Given the description of an element on the screen output the (x, y) to click on. 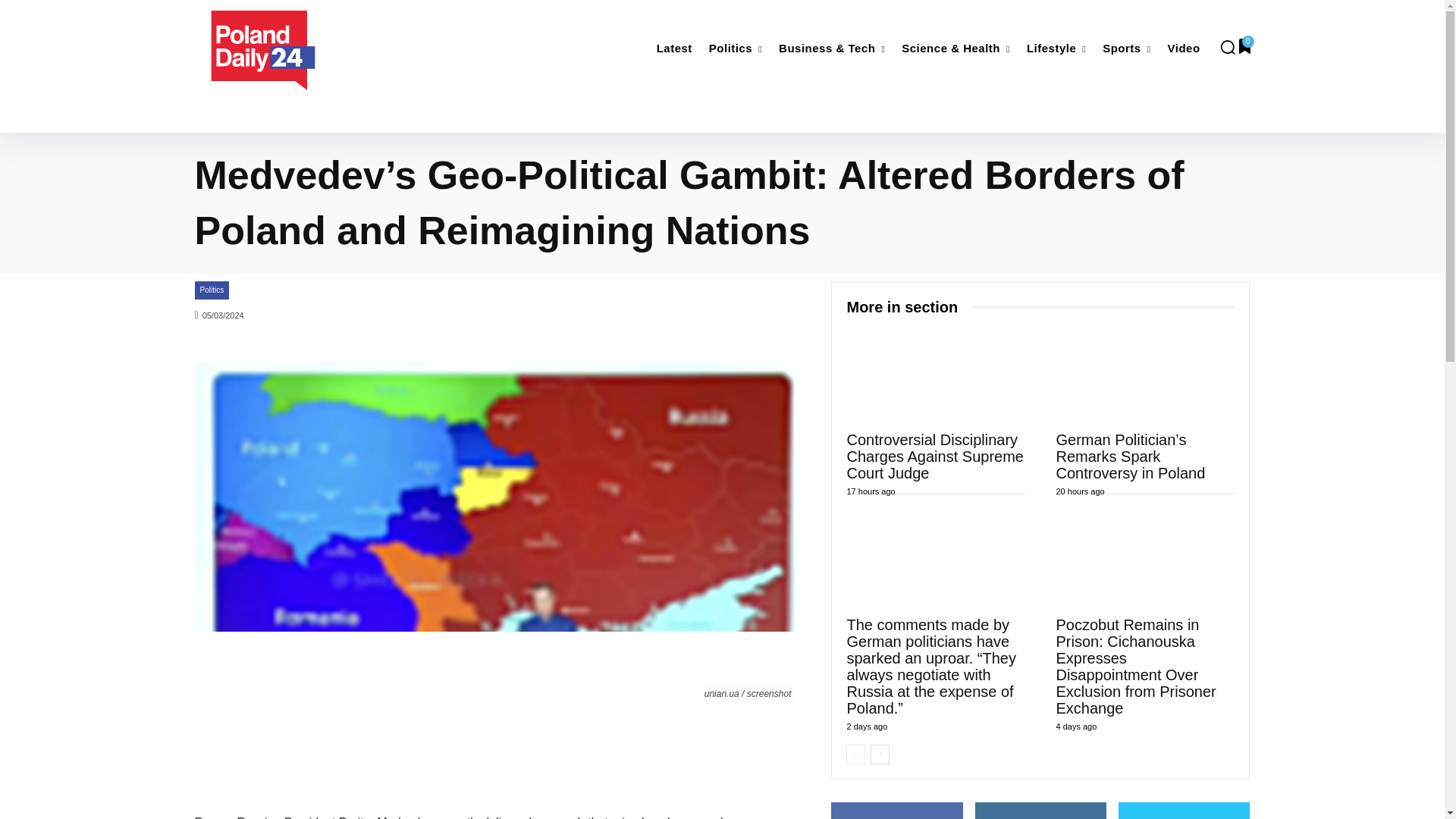
Politics (735, 48)
